Given the description of an element on the screen output the (x, y) to click on. 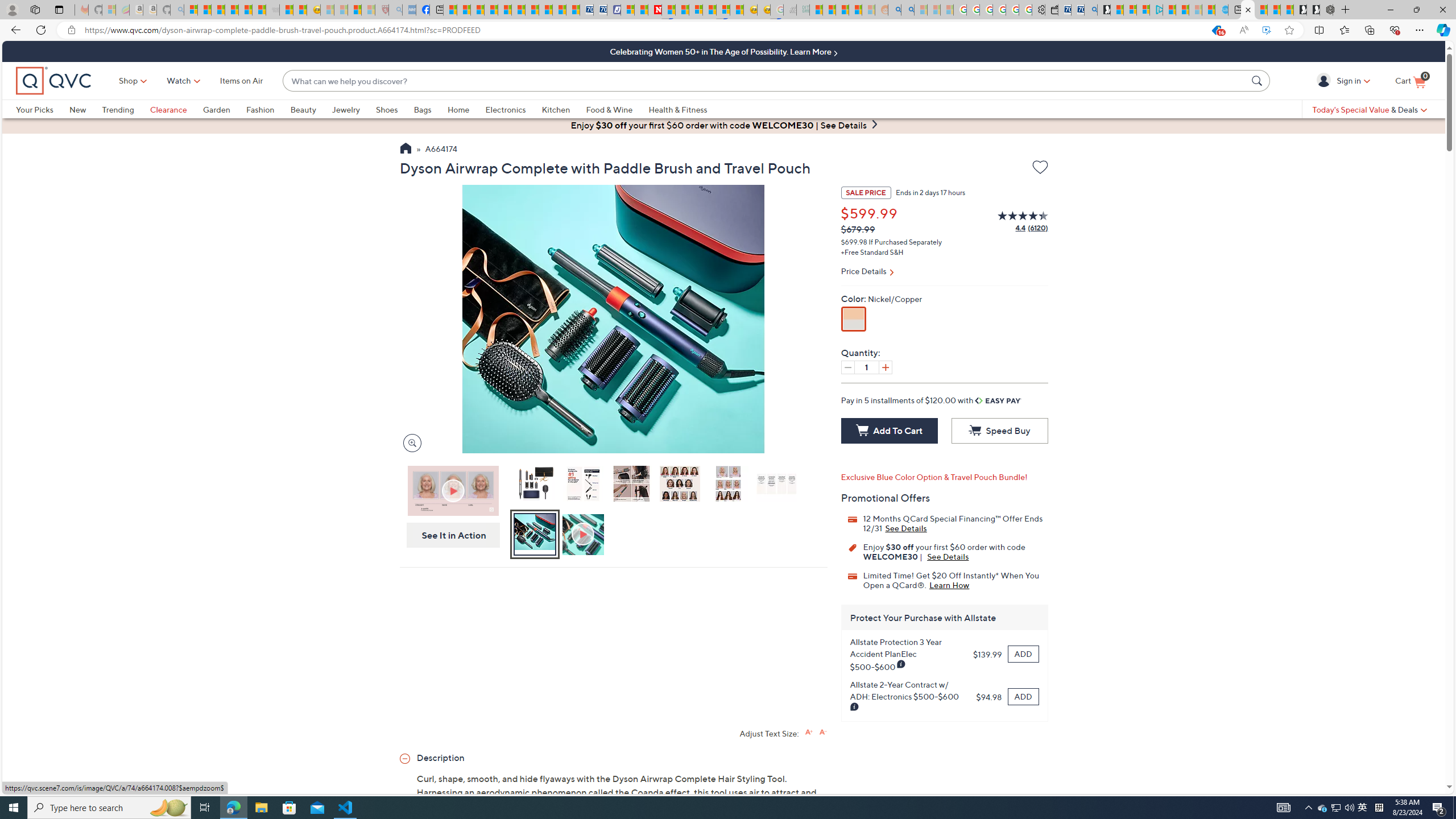
Latest Politics News & Archive | Newsweek.com (654, 9)
Add to Wish List (1040, 168)
Jewelry (353, 109)
Combat Siege - Sleeping (271, 9)
New Report Confirms 2023 Was Record Hot | Watch (245, 9)
